Given the description of an element on the screen output the (x, y) to click on. 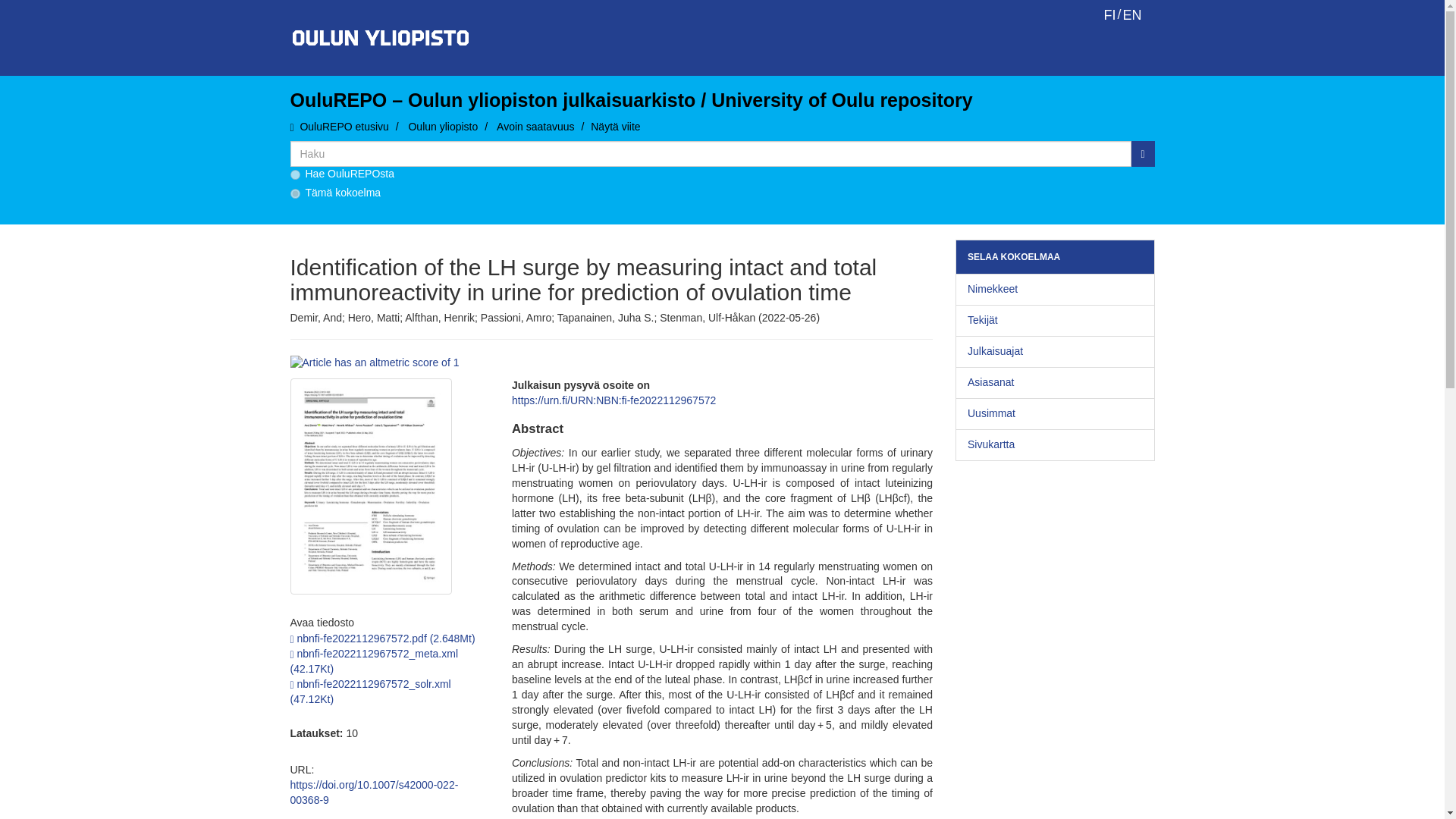
Nimekkeet (1054, 289)
Oulun yliopisto (442, 126)
Avoin saatavuus (534, 126)
OuluREPO etusivu (343, 126)
Hae (1142, 153)
